Given the description of an element on the screen output the (x, y) to click on. 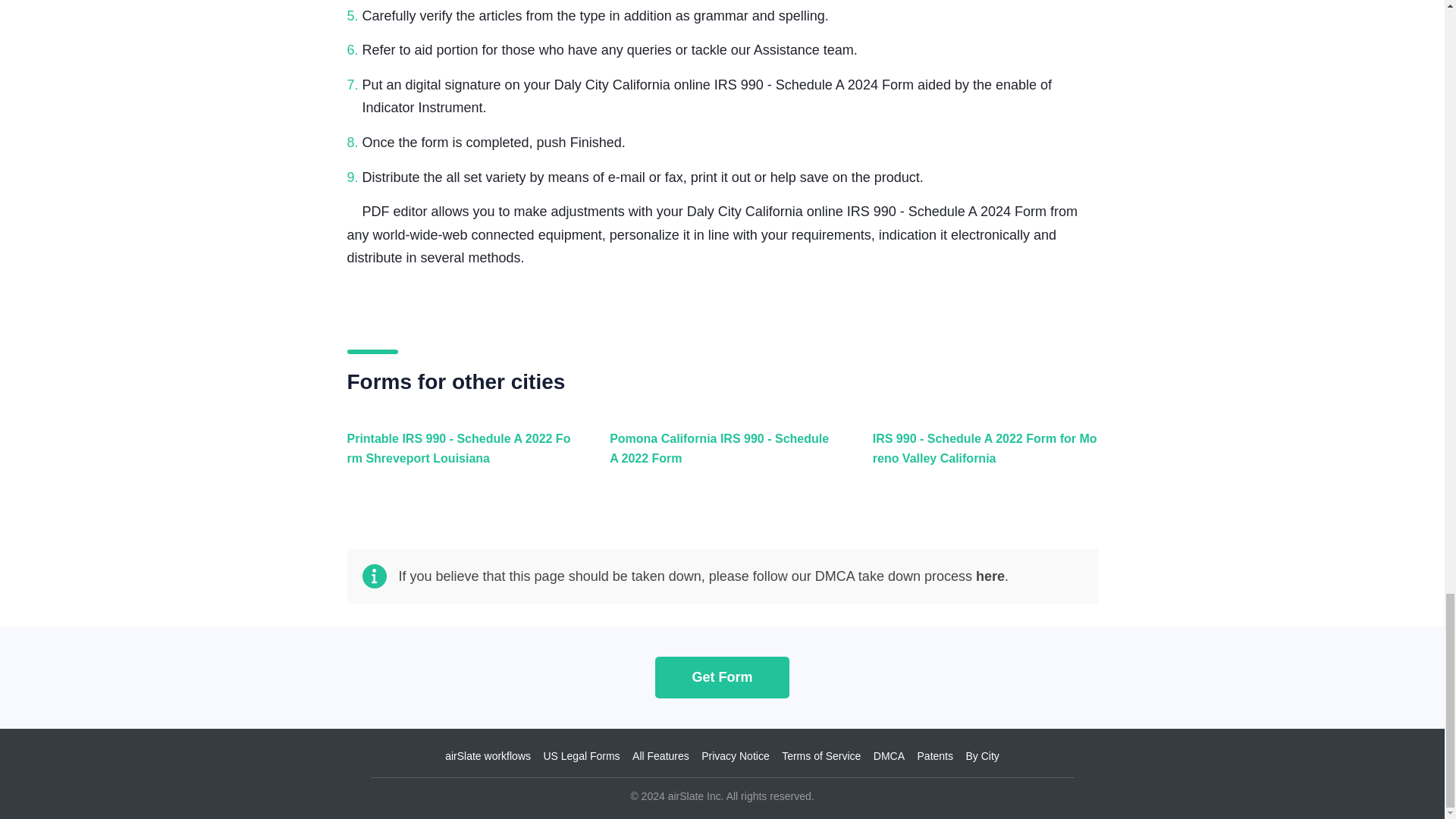
Pomona California IRS 990 - Schedule A 2022 Form (718, 456)
airSlate workflows (488, 756)
here (989, 575)
US Legal Forms (581, 756)
DMCA (888, 756)
By City (981, 756)
Patents (935, 756)
All Features (659, 756)
Privacy Notice (734, 756)
IRS 990 - Schedule A 2022 Form for Moreno Valley California (981, 456)
Terms of Service (820, 756)
Get Form (722, 676)
